Given the description of an element on the screen output the (x, y) to click on. 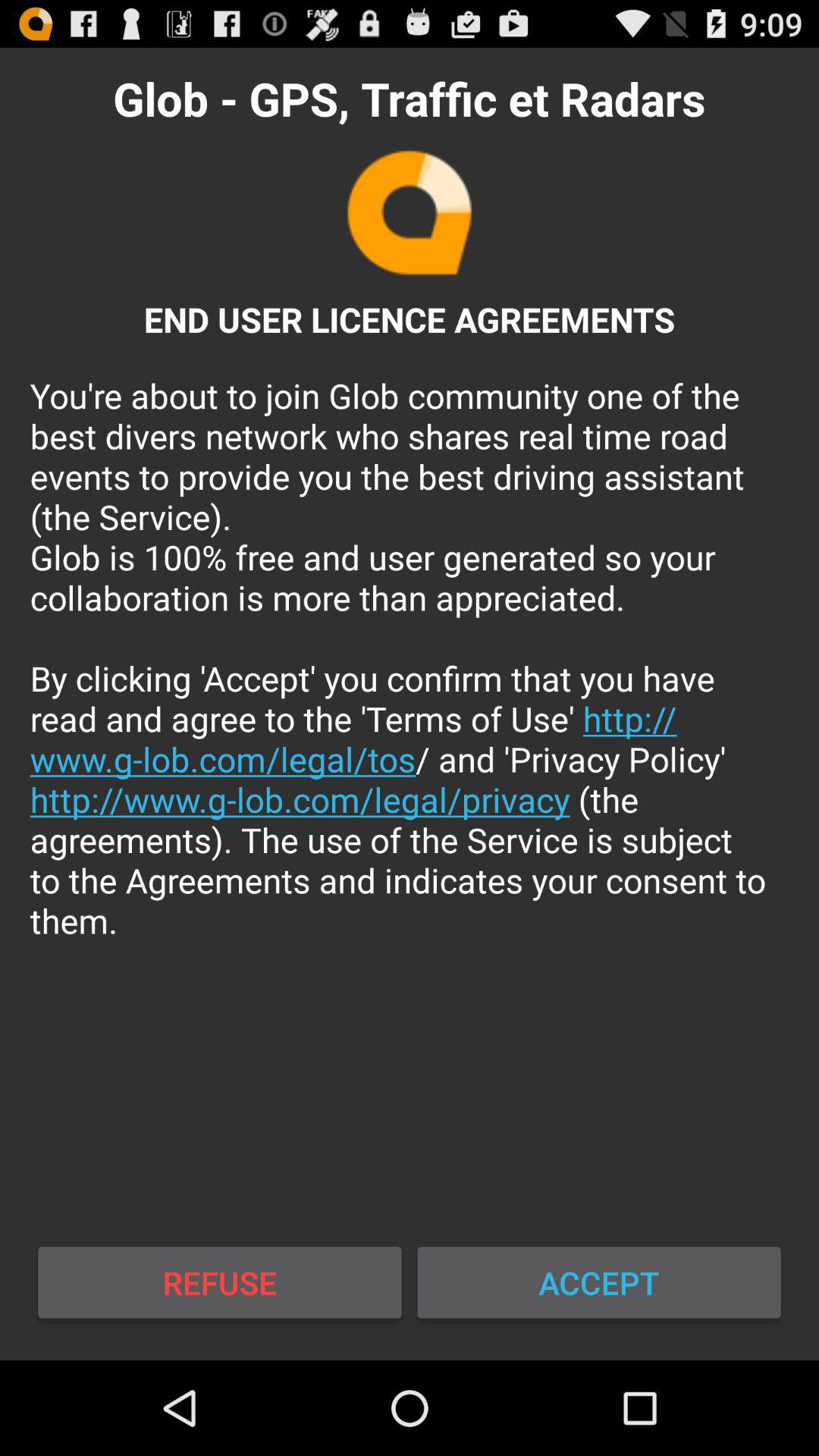
turn off icon to the right of the refuse (598, 1282)
